Given the description of an element on the screen output the (x, y) to click on. 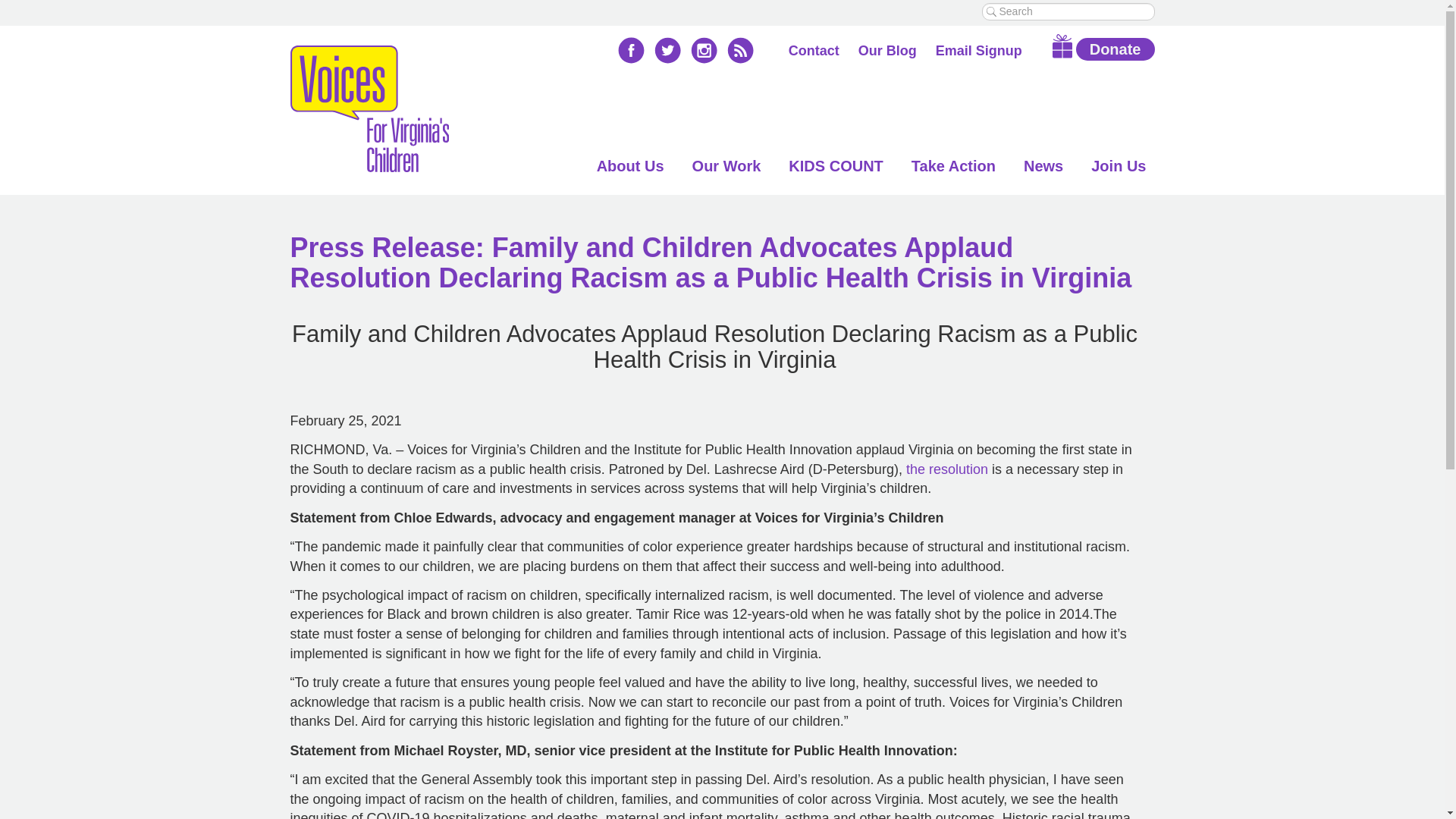
Page 1 (713, 794)
Page 1 (713, 780)
